Given the description of an element on the screen output the (x, y) to click on. 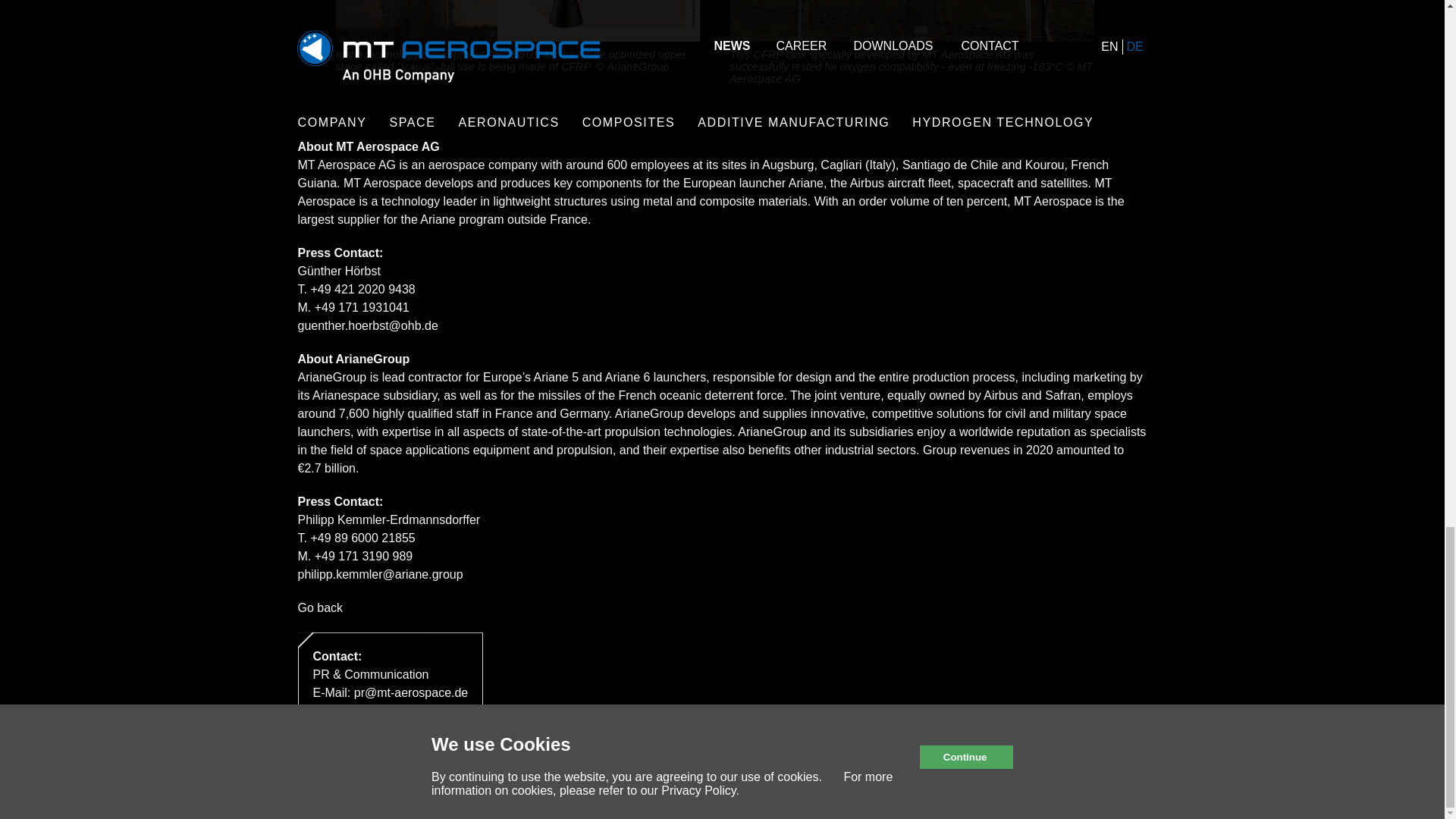
Go back (319, 607)
Go back (319, 607)
Privacy Policy (420, 781)
LINKEDIN (1118, 781)
Imprint (322, 781)
PRIVACY POLICY (420, 781)
IMPRINT (322, 781)
